Given the description of an element on the screen output the (x, y) to click on. 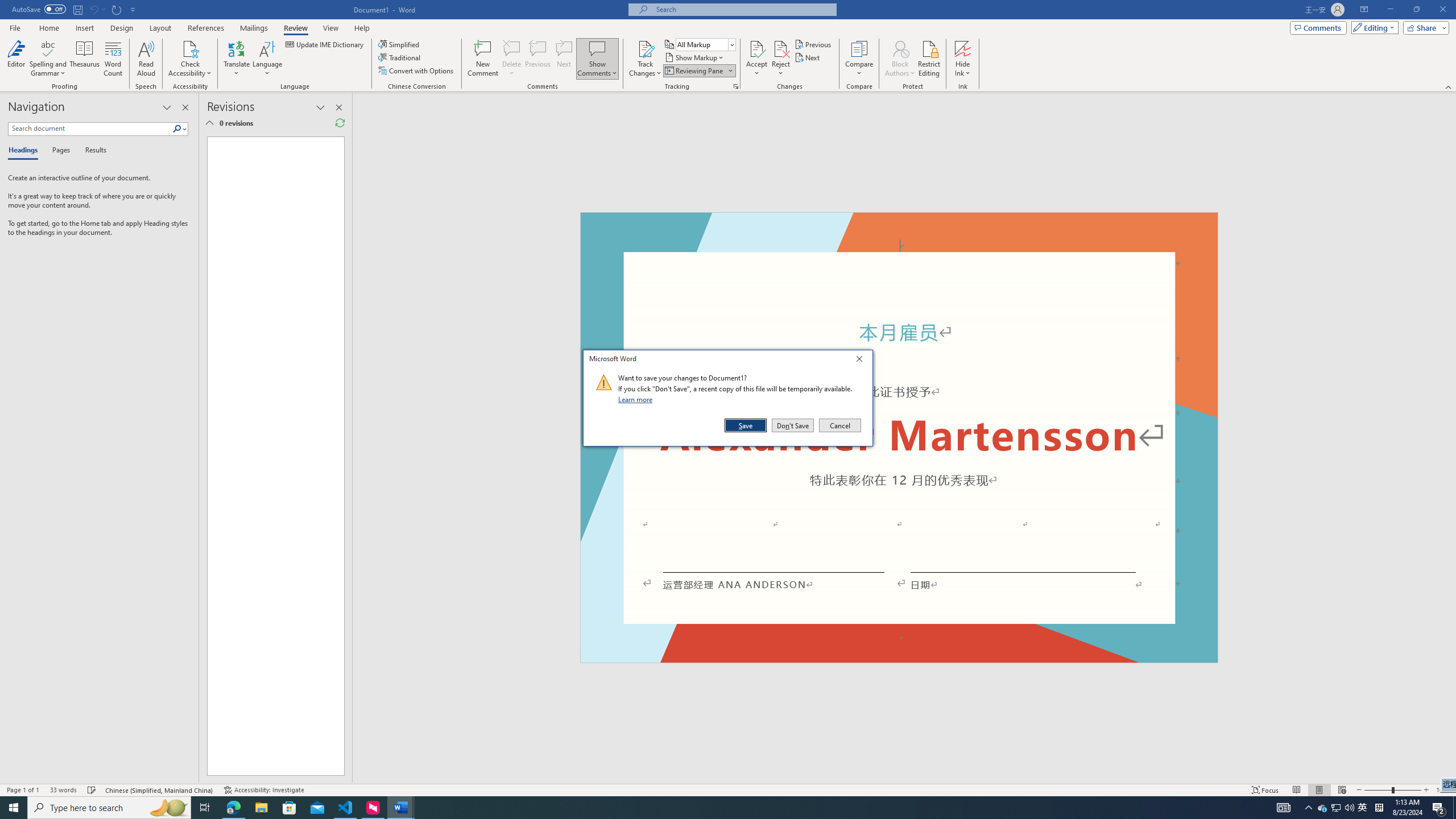
Comments (1318, 27)
Headings (25, 150)
Read Mode (1296, 790)
Restore Down (1416, 9)
Delete (511, 48)
Ribbon Display Options (1364, 9)
Check Accessibility (189, 58)
Pages (59, 150)
Accept (756, 58)
Language (267, 58)
Track Changes (644, 58)
Review (295, 28)
Class: NetUIScrollBar (1450, 437)
Start (13, 807)
File Tab (15, 27)
